Given the description of an element on the screen output the (x, y) to click on. 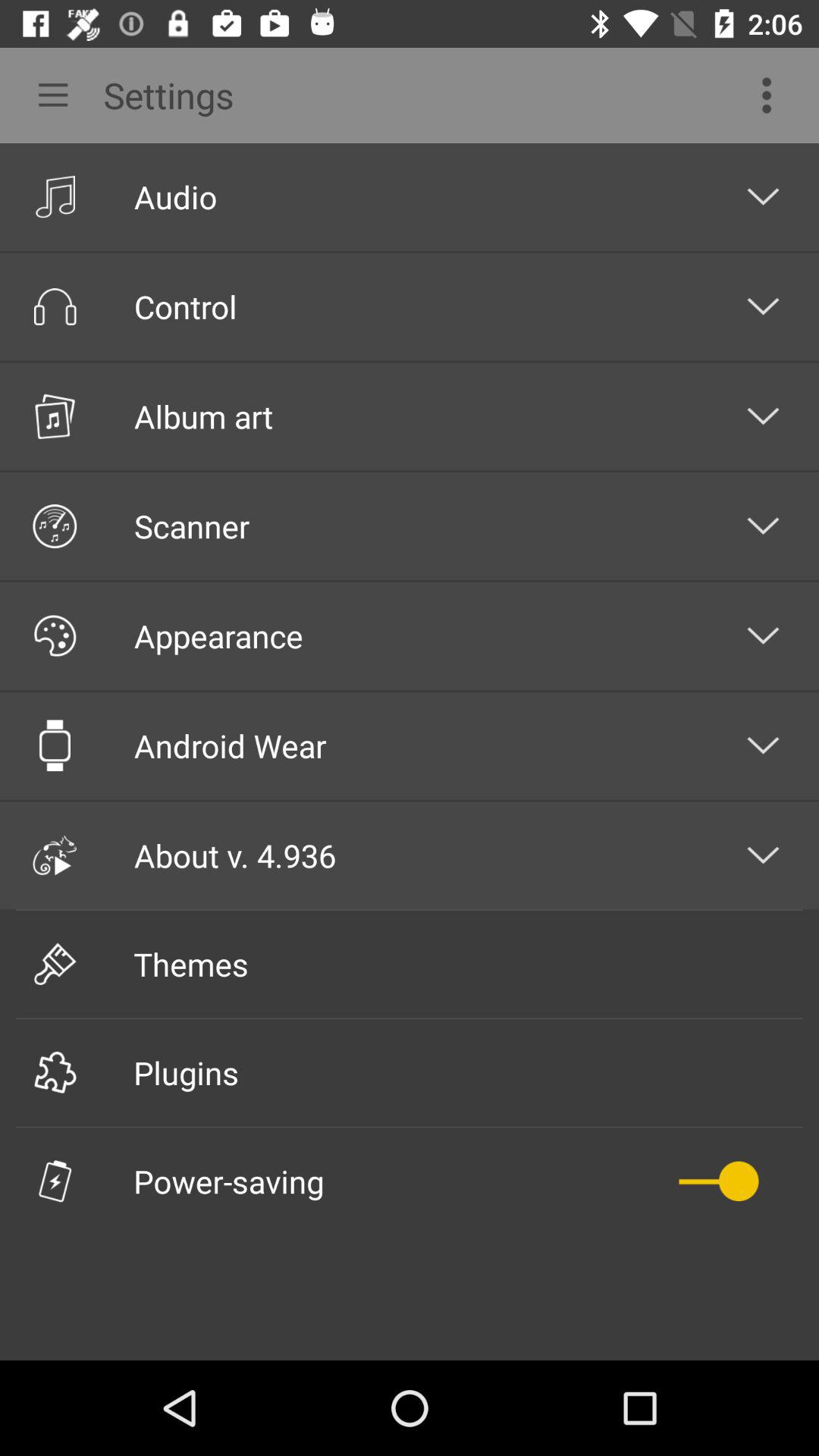
click the app next to settings app (47, 95)
